Given the description of an element on the screen output the (x, y) to click on. 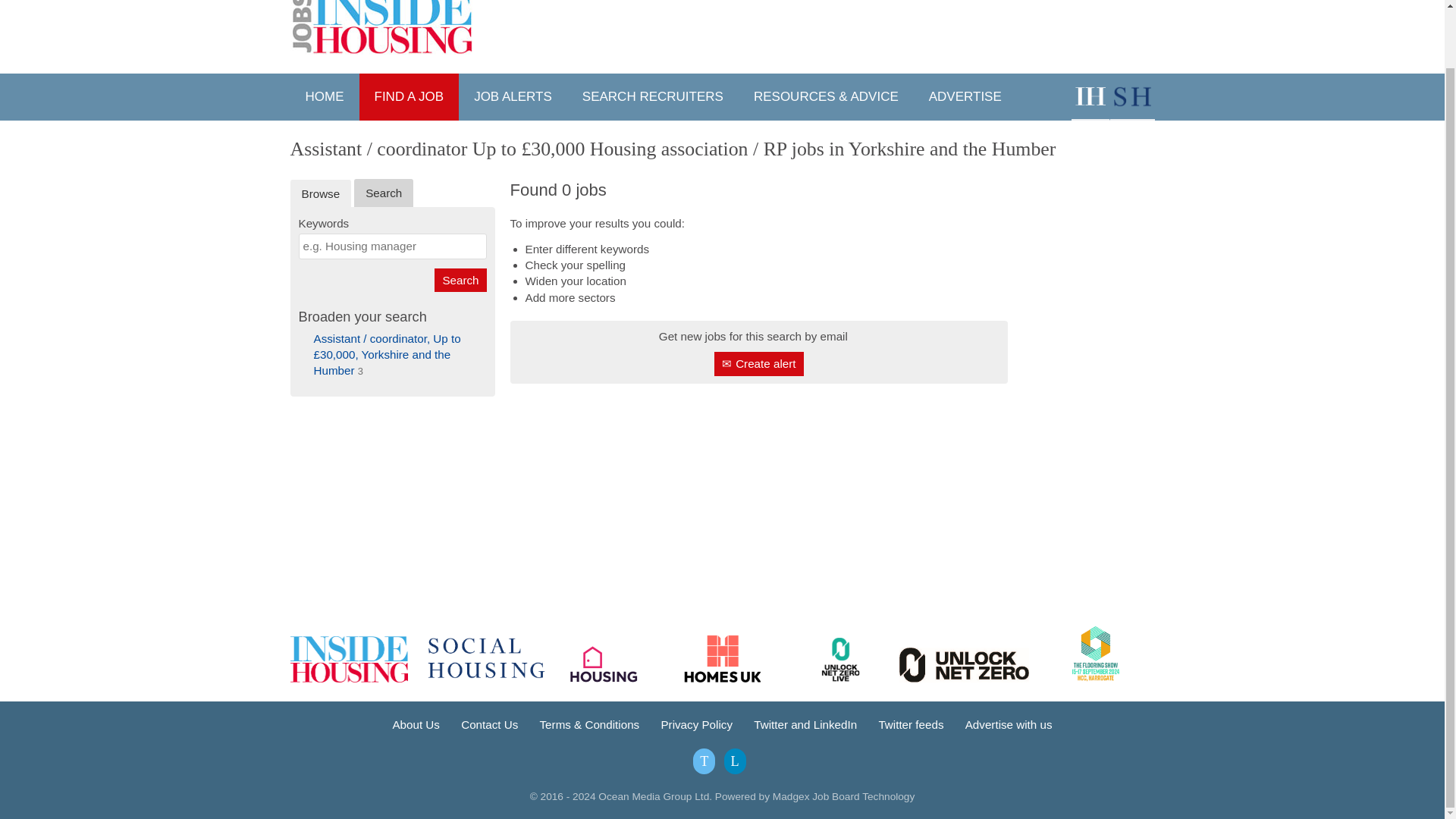
Jobs Inside Housing (382, 27)
HOME (323, 96)
Search (459, 279)
Privacy Policy (696, 724)
Search (459, 279)
FIND A JOB (409, 96)
SEARCH RECRUITERS (652, 96)
Contact Us (489, 724)
Advertise with us (1008, 724)
3rd party ad content (1088, 496)
Create alert (758, 363)
SOCIAL HOUSING (1131, 96)
Twitter and LinkedIn (805, 724)
About Us (415, 724)
INSIDE HOUSING (1089, 96)
